Given the description of an element on the screen output the (x, y) to click on. 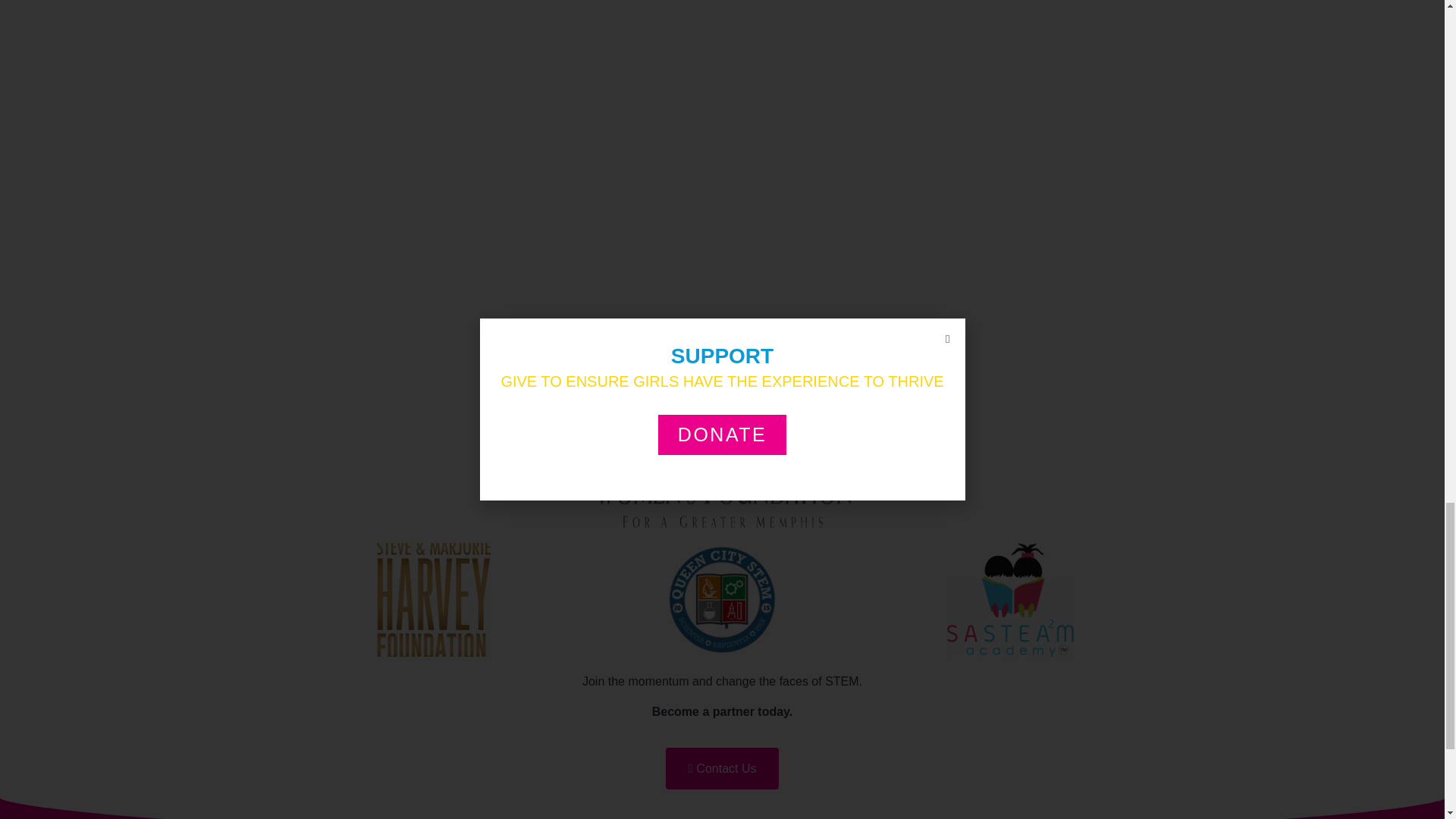
SA-Steam (1010, 599)
